Given the description of an element on the screen output the (x, y) to click on. 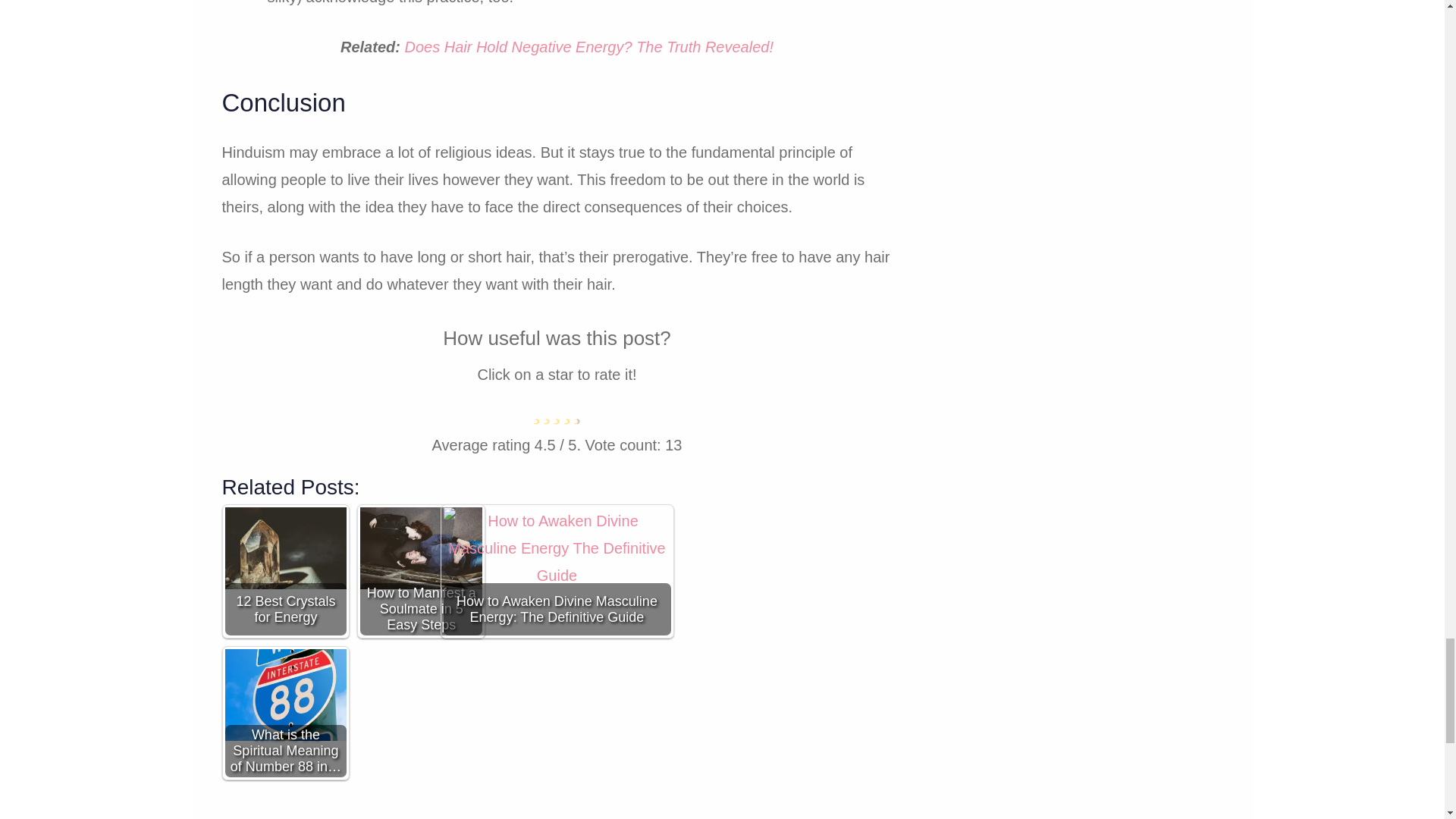
Does Hair Hold Negative Energy? The Truth Revealed! (588, 46)
How to Awaken Divine Masculine Energy: The Definitive Guide (556, 571)
12 Best Crystals for Energy (285, 571)
12 Best Crystals for Energy (285, 547)
How to Manifest a Soulmate in 5 Easy Steps (420, 547)
How to Awaken Divine Masculine Energy: The Definitive Guide (555, 572)
How to Manifest a Soulmate in 5 Easy Steps (421, 571)
